Given the description of an element on the screen output the (x, y) to click on. 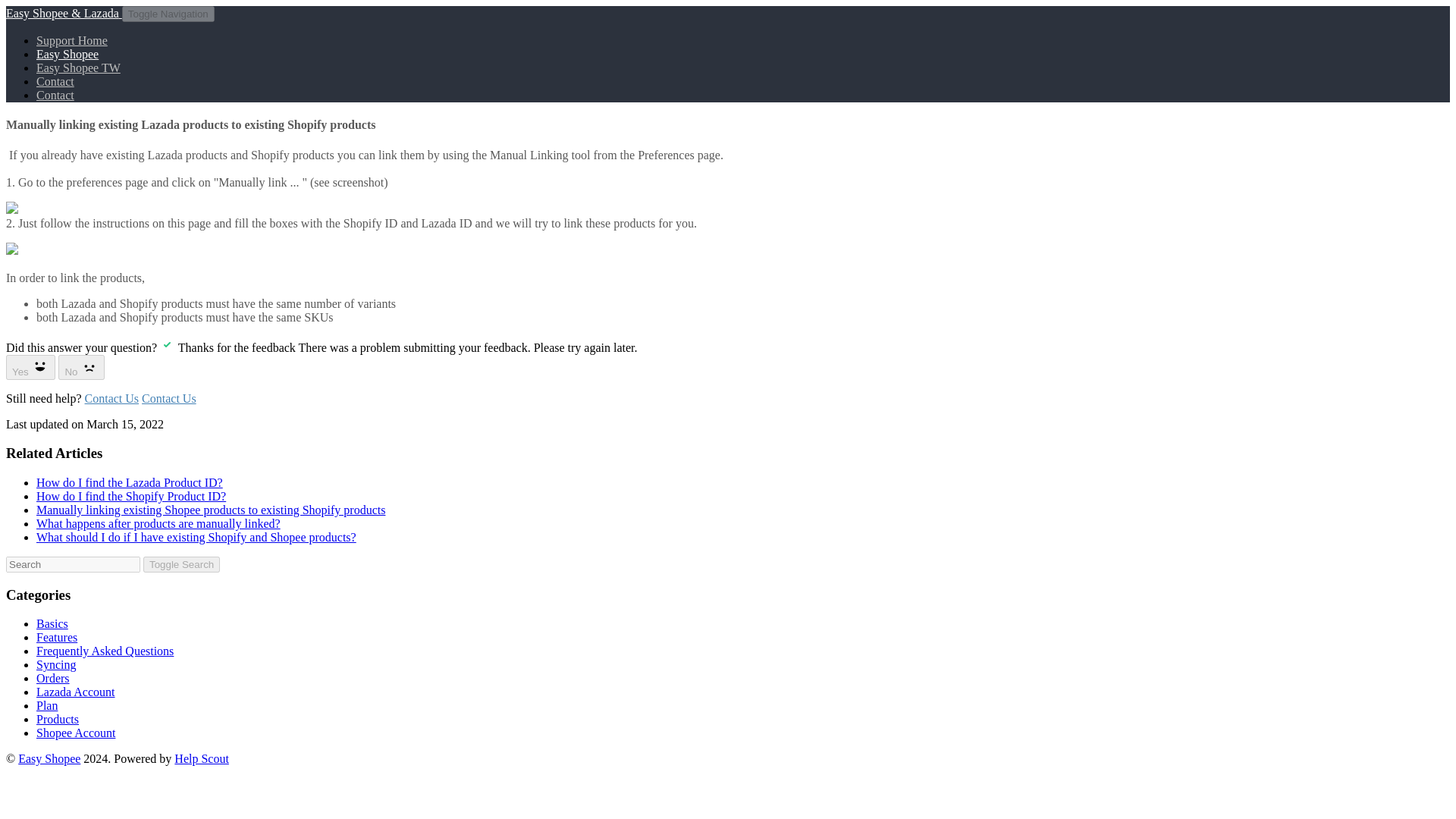
How do I find the Shopify Product ID? (130, 495)
Syncing (55, 664)
Basics (52, 623)
Frequently Asked Questions (104, 650)
Products (57, 718)
Contact Us (168, 398)
Shopee Account (75, 732)
Easy Shopee TW (78, 67)
Orders (52, 677)
Toggle Navigation (168, 13)
